Given the description of an element on the screen output the (x, y) to click on. 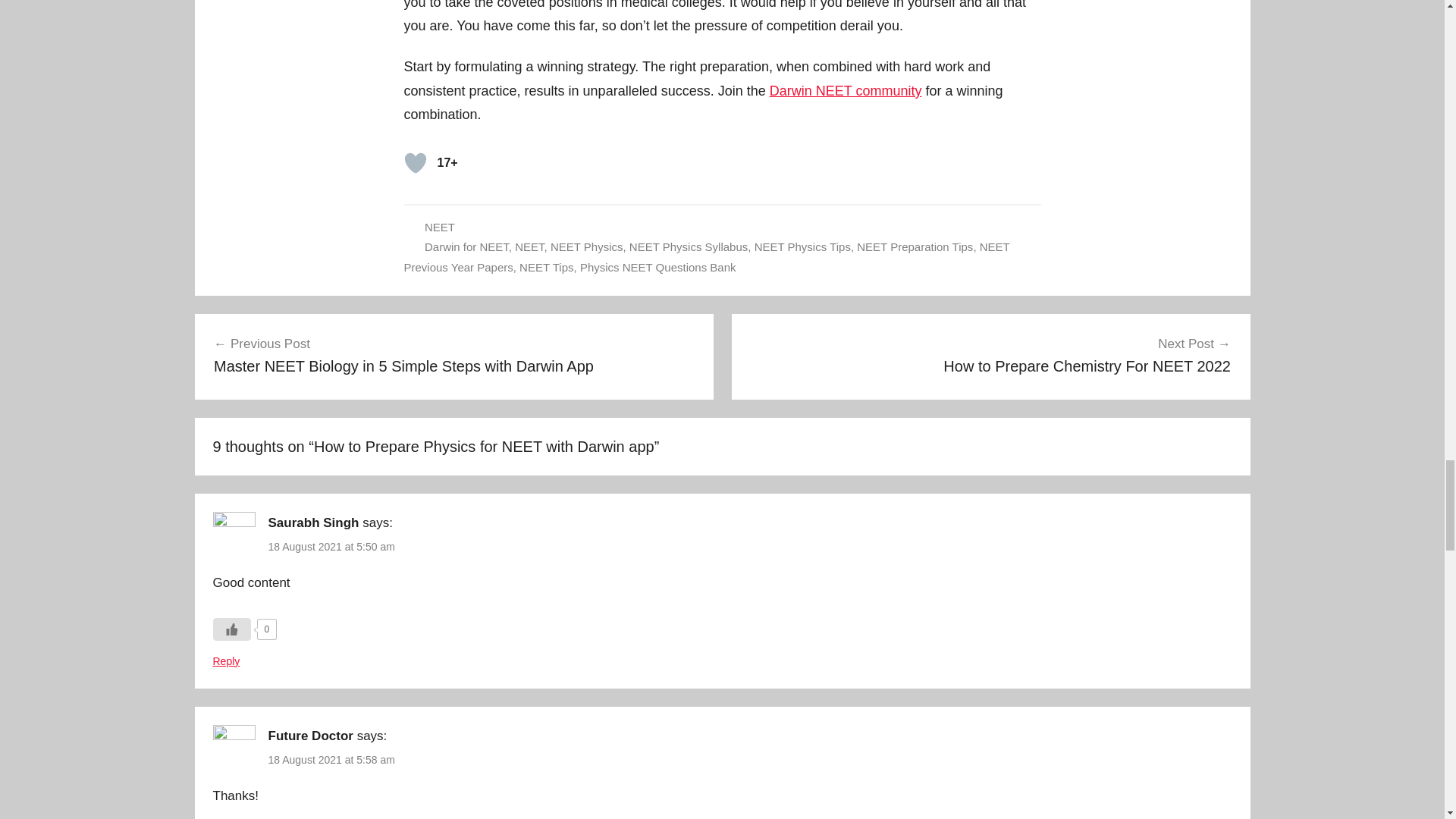
NEET Physics Syllabus (688, 246)
18 August 2021 at 5:50 am (330, 546)
18 August 2021 at 5:58 am (330, 759)
NEET Physics Tips (802, 246)
Darwin NEET community (845, 90)
Darwin for NEET (466, 246)
NEET Tips (546, 267)
NEET (439, 226)
